Given the description of an element on the screen output the (x, y) to click on. 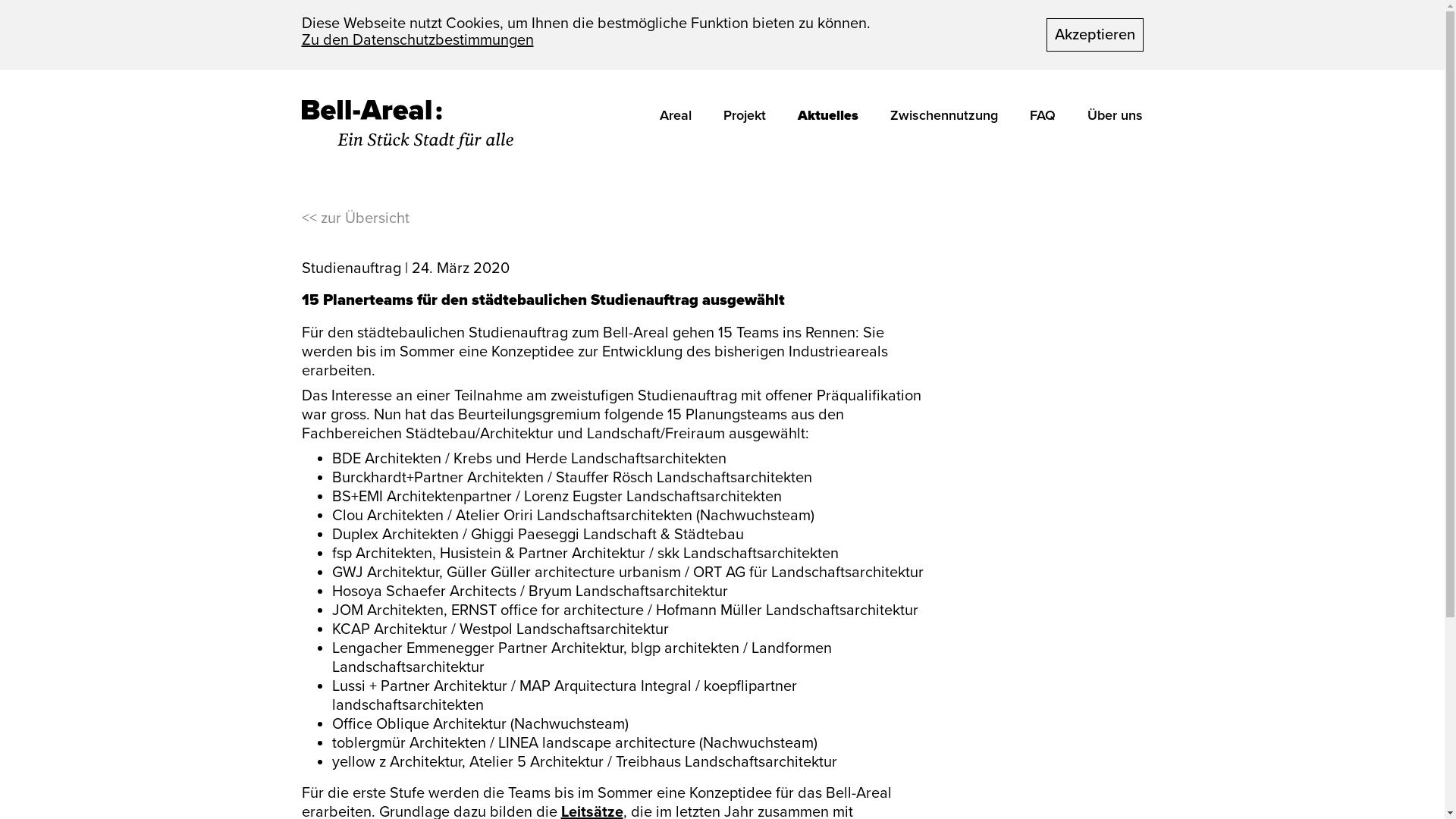
FAQ Element type: text (1041, 115)
Zu den Datenschutzbestimmungen Element type: text (417, 40)
Zwischennutzung Element type: text (943, 115)
Areal Element type: text (674, 115)
Projekt Element type: text (743, 115)
Akzeptieren Element type: text (1094, 34)
Aktuelles Element type: text (827, 109)
Home Element type: hover (407, 124)
